Given the description of an element on the screen output the (x, y) to click on. 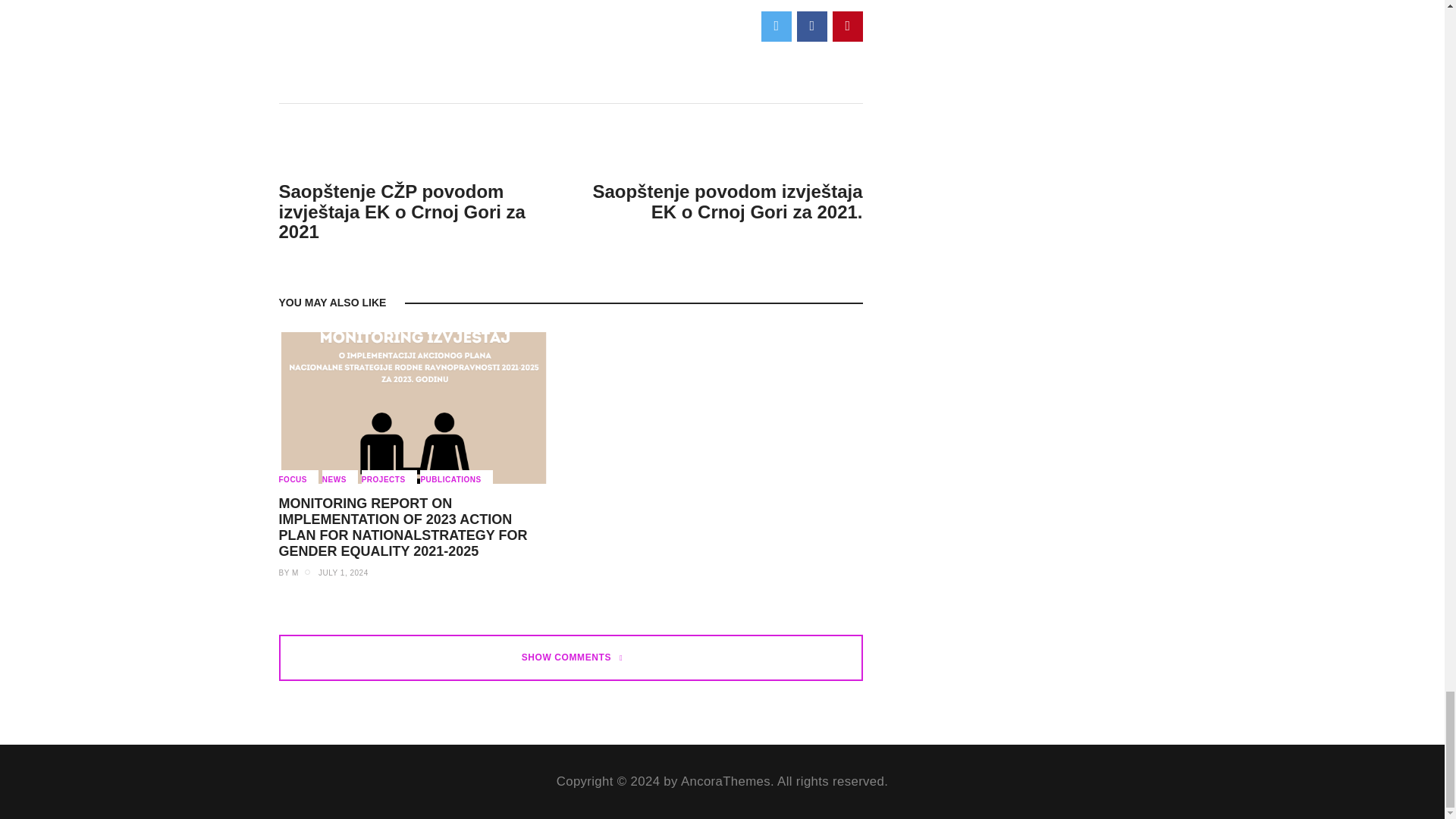
FOCUS (298, 477)
PROJECTS (388, 477)
PUBLICATIONS (456, 477)
NEWS (339, 477)
